Given the description of an element on the screen output the (x, y) to click on. 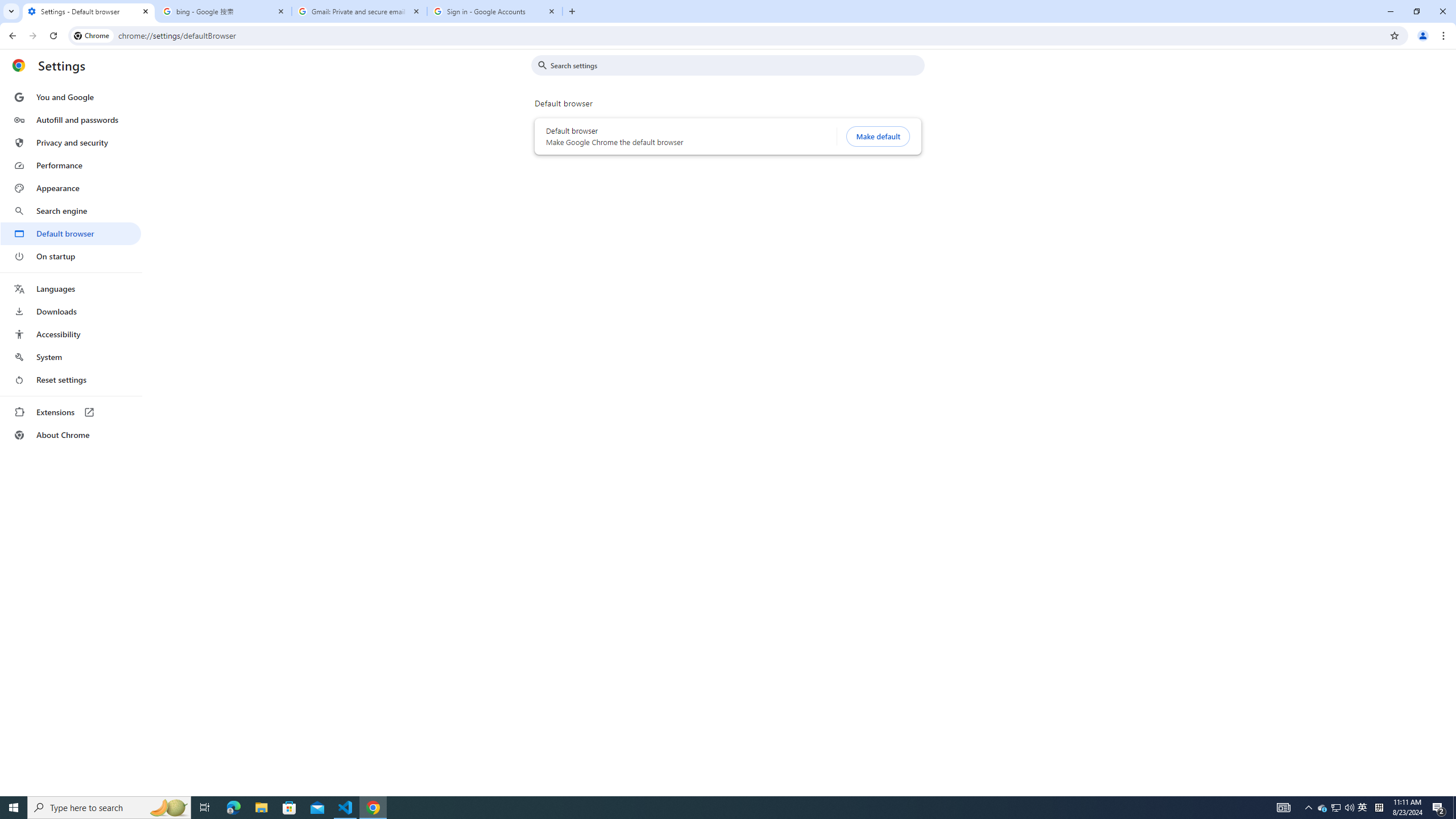
Make default (877, 136)
On startup (70, 255)
Search engine (70, 210)
Settings - Default browser (88, 11)
Reset settings (70, 379)
Sign in - Google Accounts (494, 11)
Search settings (735, 65)
